Given the description of an element on the screen output the (x, y) to click on. 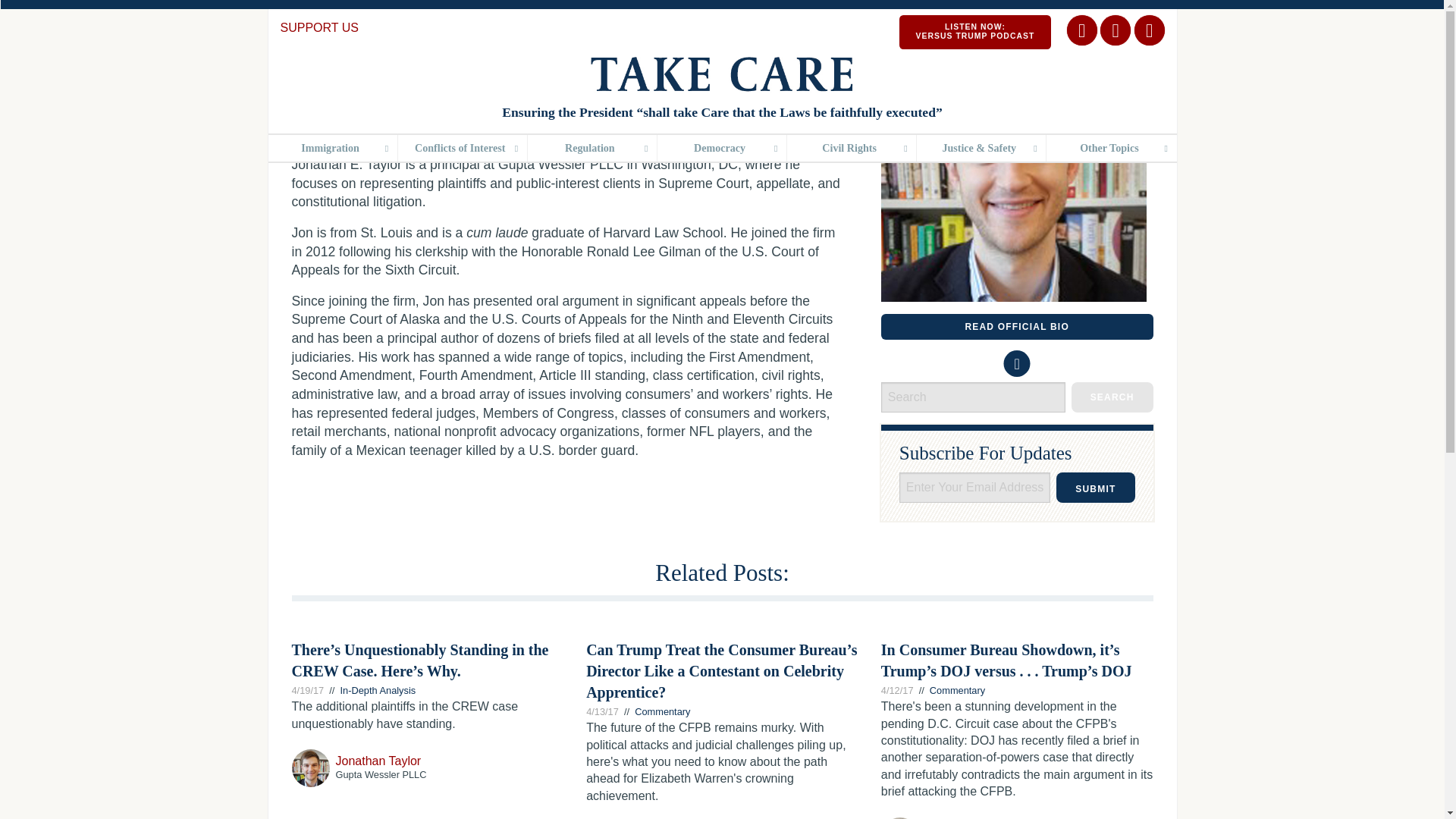
search (1112, 397)
Regulation (591, 148)
Democracy (722, 148)
SUPPORT US (319, 27)
Conflicts of Interest (462, 148)
Immigration (332, 148)
Civil Rights (851, 148)
